Given the description of an element on the screen output the (x, y) to click on. 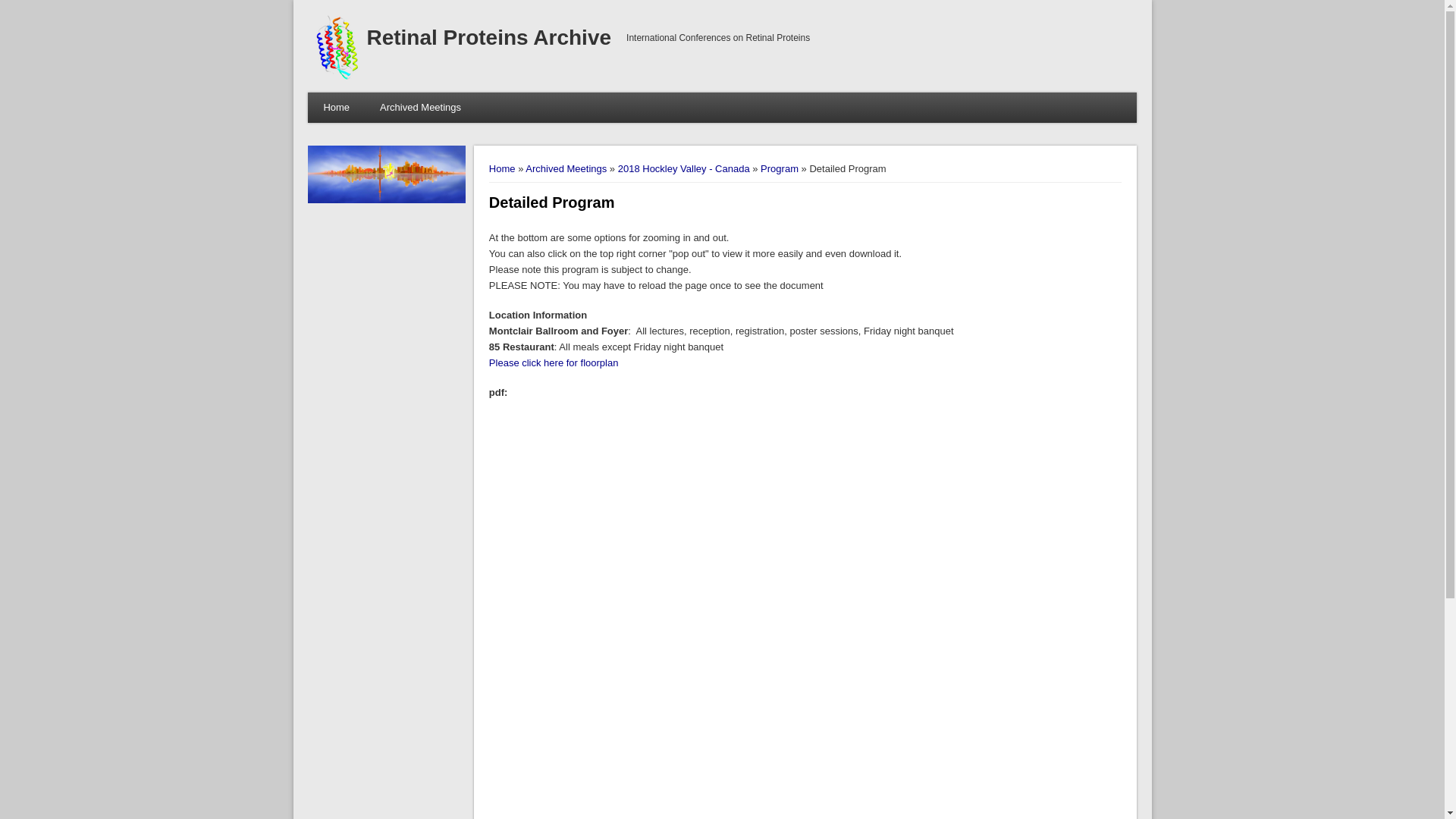
Home (488, 37)
Retinal Proteins Archive (488, 37)
Home (336, 76)
Home (336, 107)
Archived Meetings (420, 107)
